Given the description of an element on the screen output the (x, y) to click on. 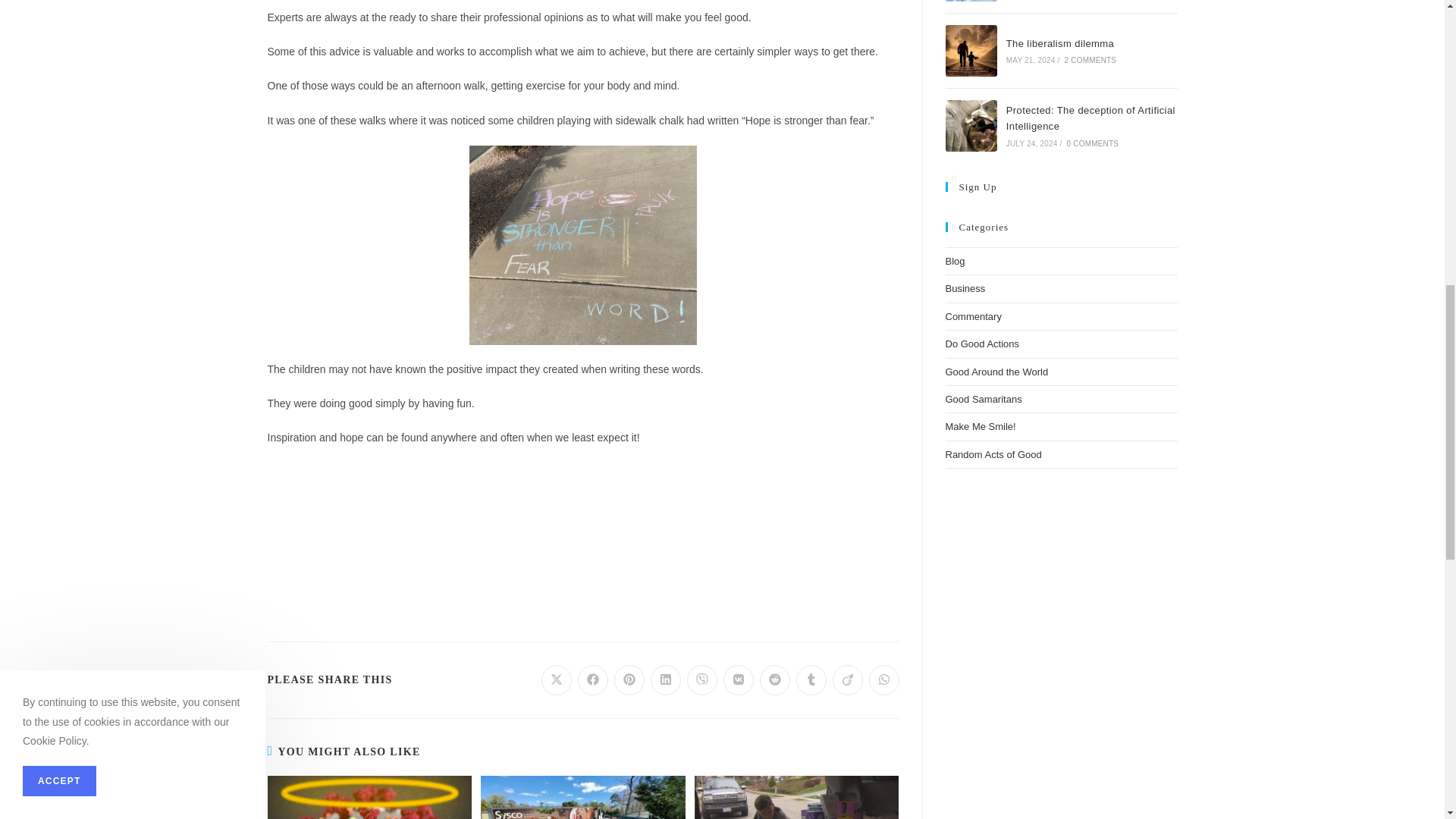
What everyone can learn from The Longest Day of Golf (969, 0)
The liberalism dilemma (969, 50)
Protected: The deception of Artificial Intelligence (969, 125)
